Given the description of an element on the screen output the (x, y) to click on. 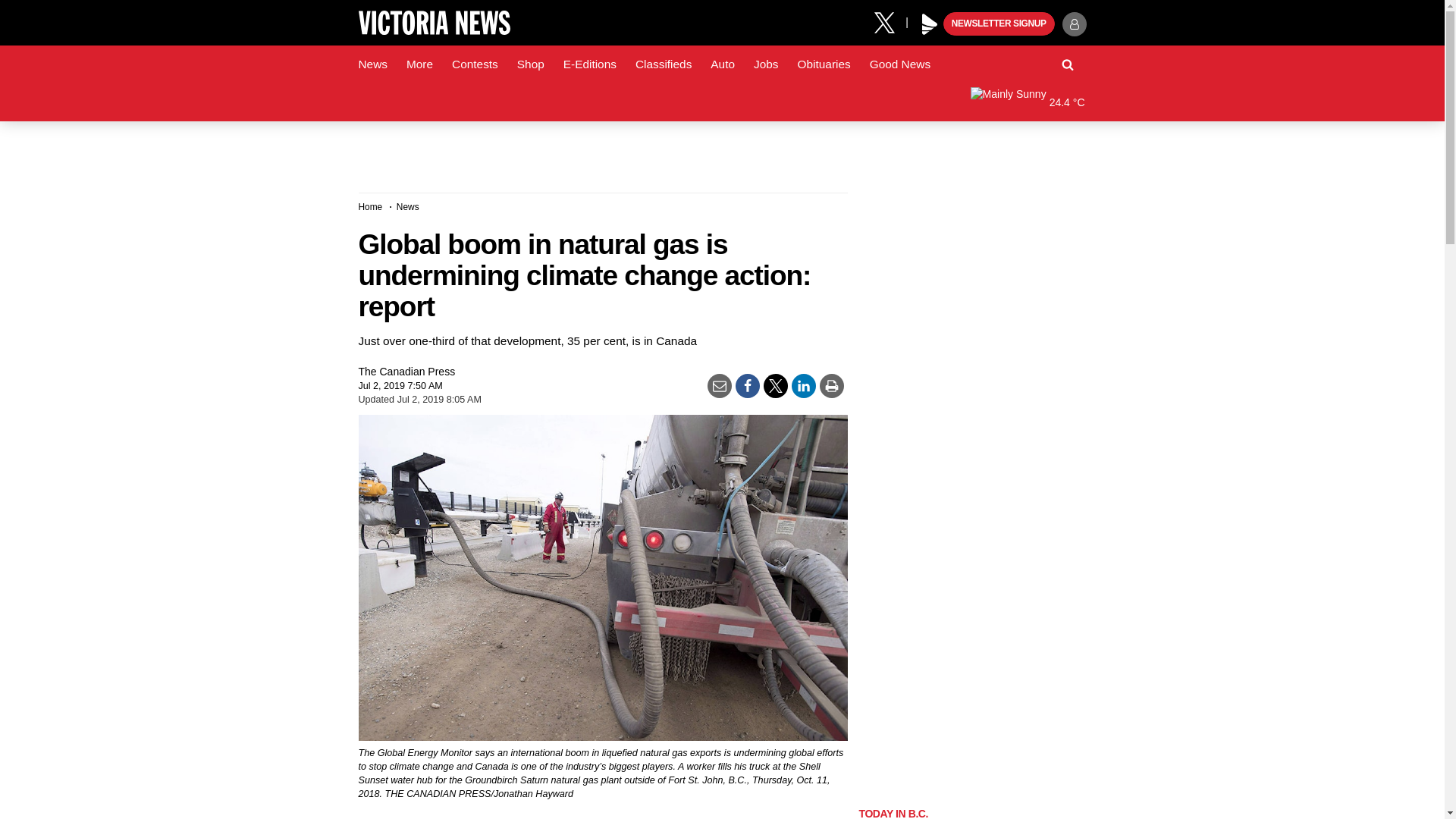
News (372, 64)
Play (929, 24)
X (889, 21)
NEWSLETTER SIGNUP (998, 24)
Black Press Media (929, 24)
